Given the description of an element on the screen output the (x, y) to click on. 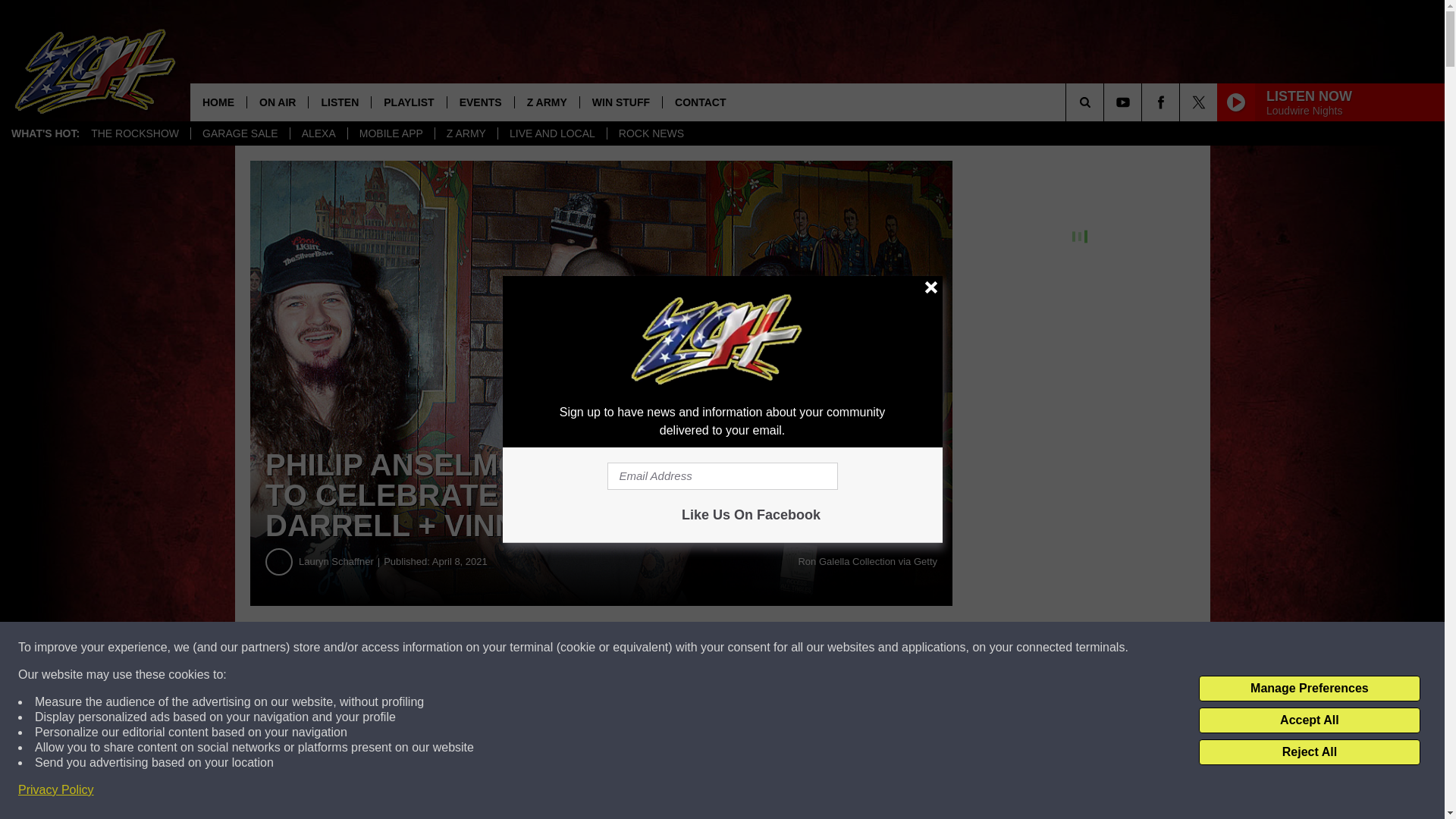
Privacy Policy (55, 789)
PLAYLIST (408, 102)
Share on Facebook (460, 647)
EVENTS (479, 102)
CONTACT (700, 102)
ALEXA (318, 133)
GARAGE SALE (239, 133)
Manage Preferences (1309, 688)
THE ROCKSHOW (135, 133)
SEARCH (1106, 102)
Share on Twitter (741, 647)
ON AIR (276, 102)
ROCK NEWS (651, 133)
HOME (218, 102)
LIVE AND LOCAL (552, 133)
